Given the description of an element on the screen output the (x, y) to click on. 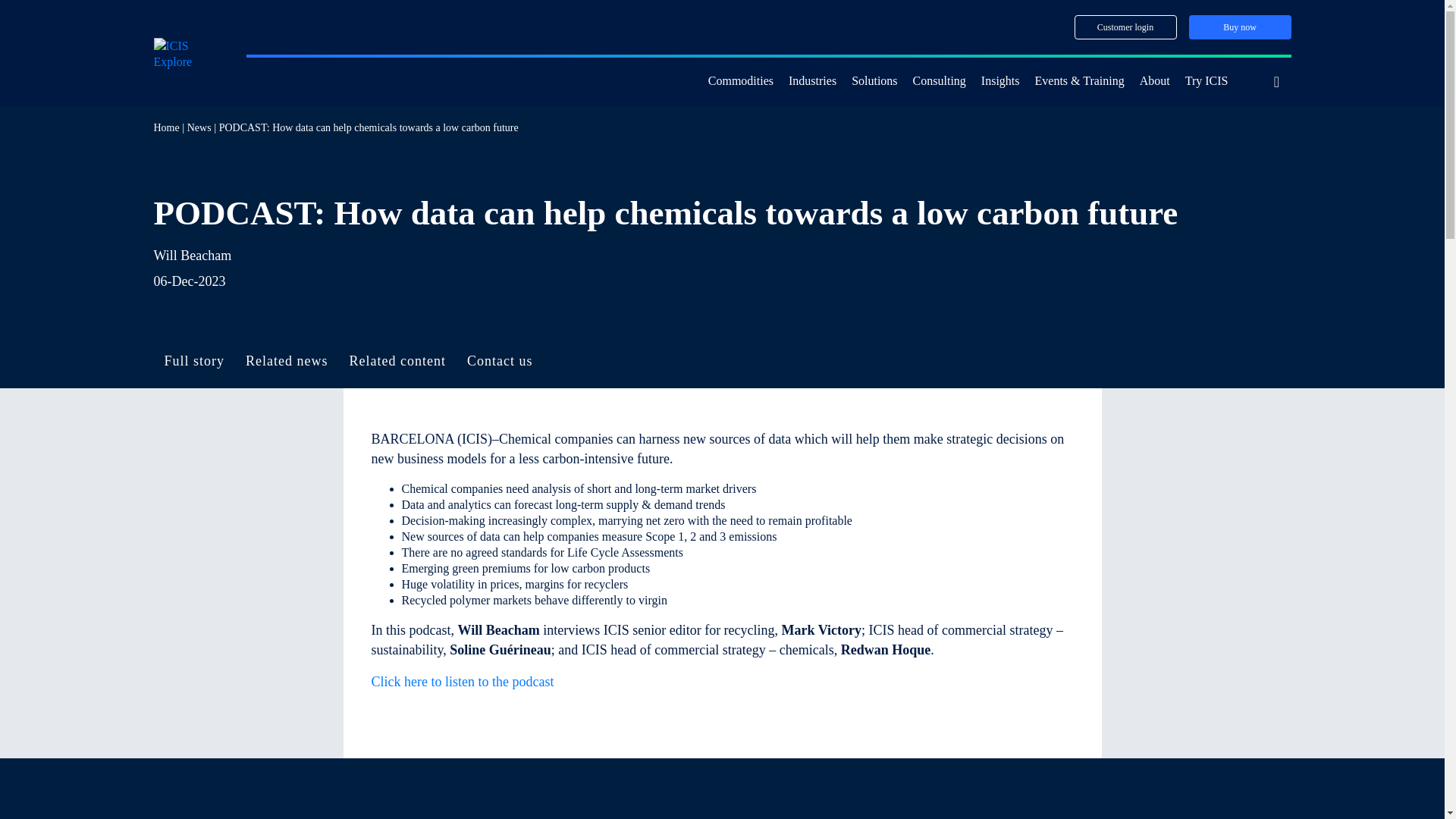
Insights (1000, 82)
Solutions (873, 82)
Buy now (1240, 27)
Commodities (740, 82)
Consulting (939, 82)
Industries (812, 82)
Commodities (740, 82)
Buy now (1240, 27)
Industries (812, 82)
Customer login (1125, 27)
Customer login (1125, 27)
